Given the description of an element on the screen output the (x, y) to click on. 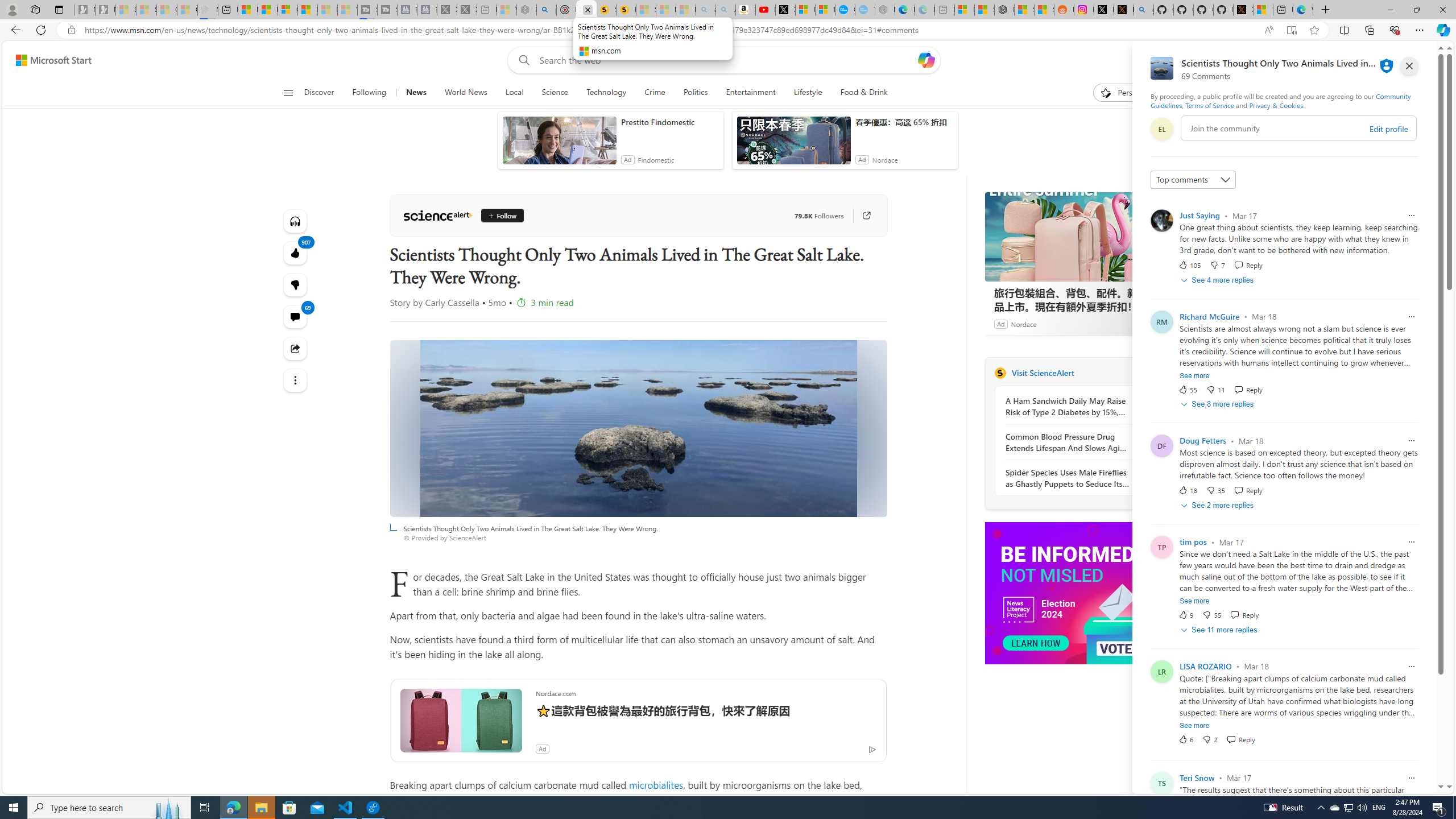
Local (514, 92)
Listen to this article (295, 221)
6 Like (1185, 739)
Open Copilot (925, 59)
Discover (319, 92)
Dislike (1209, 739)
Findomestic (655, 159)
